Given the description of an element on the screen output the (x, y) to click on. 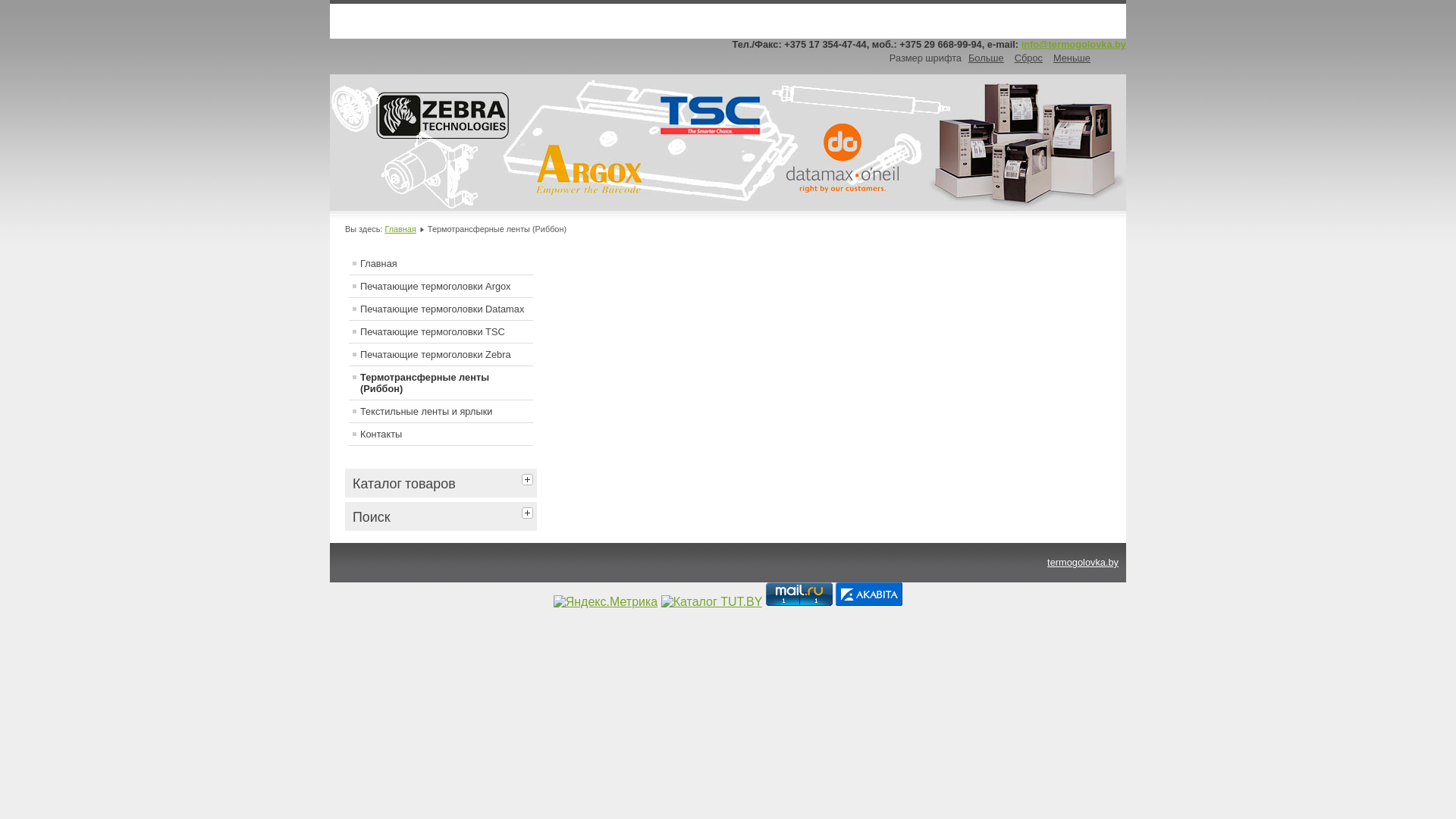
termogolovka.by Element type: text (1082, 561)
info@termogolovka.by Element type: text (1073, 44)
